Given the description of an element on the screen output the (x, y) to click on. 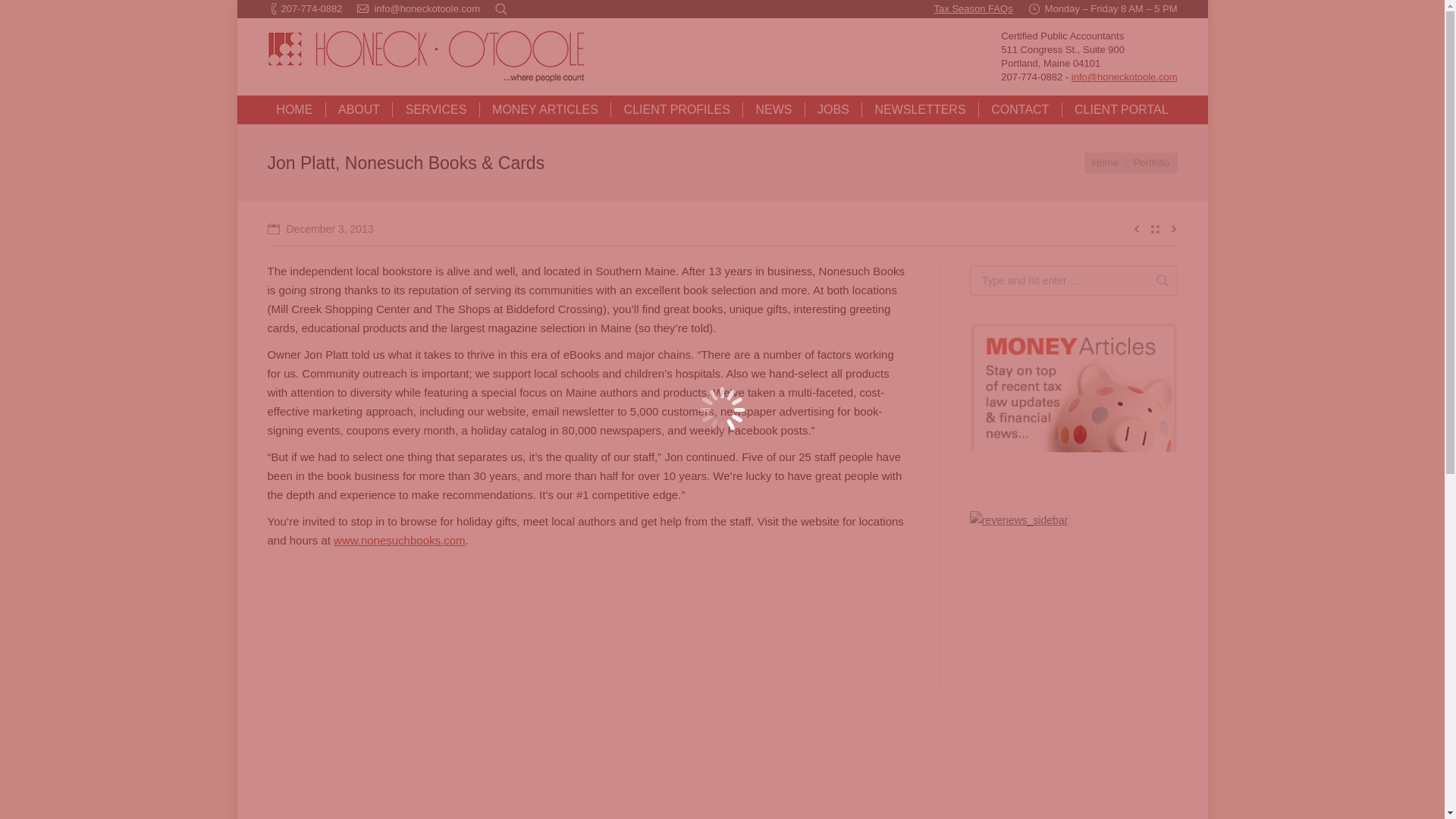
Home (1105, 162)
CLIENT PROFILES (676, 109)
Go! (1155, 280)
CONTACT (1019, 109)
SERVICES (436, 109)
MONEY ARTICLES (545, 109)
Go! (19, 15)
December 3, 2013 (319, 229)
207-774-0882 (311, 8)
HOME (293, 109)
